Given the description of an element on the screen output the (x, y) to click on. 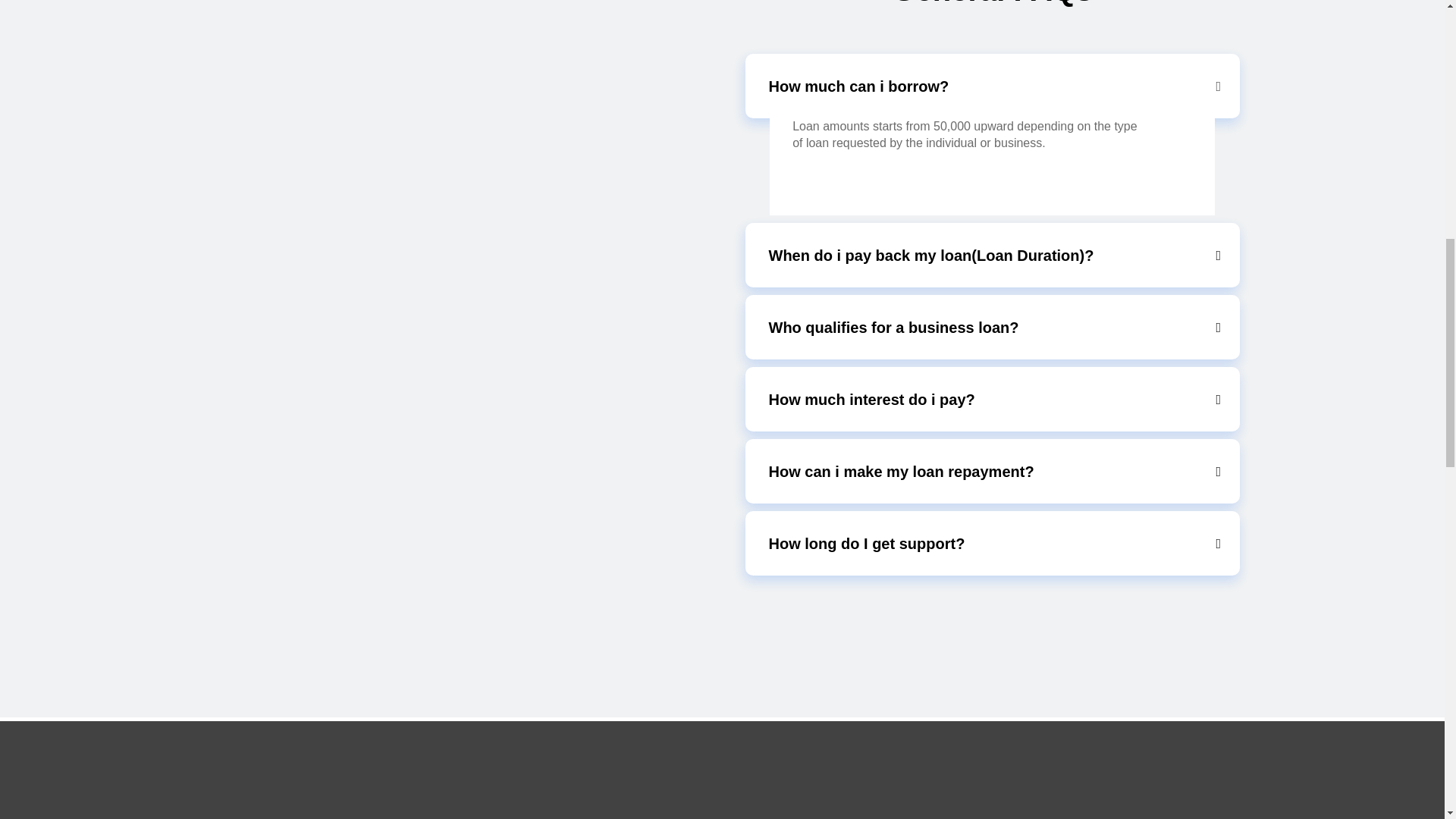
How can i make my loan repayment? (992, 470)
How much can i borrow? (992, 85)
Who qualifies for a business loan? (992, 326)
How much interest do i pay? (992, 398)
How long do I get support? (992, 543)
